Given the description of an element on the screen output the (x, y) to click on. 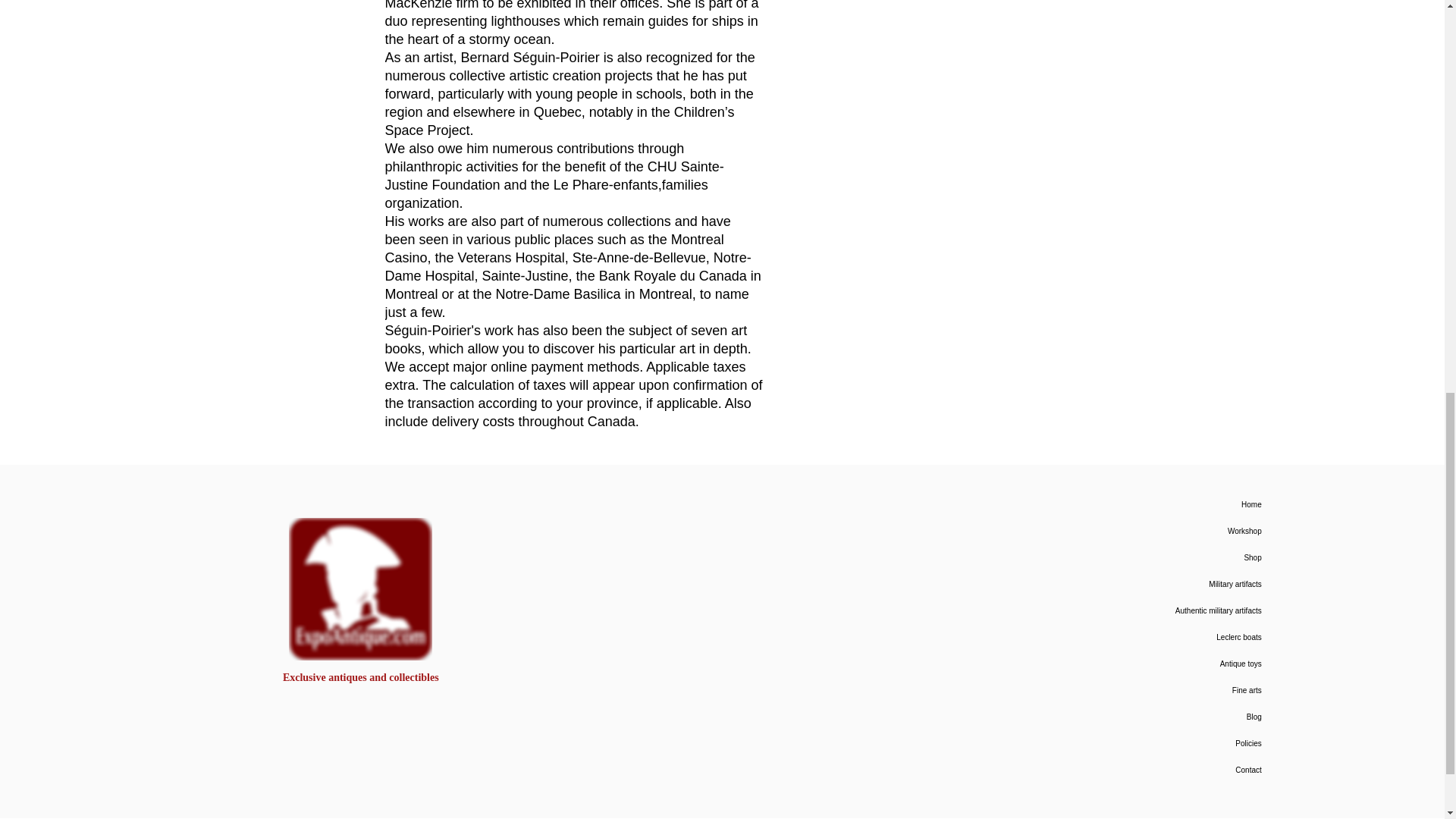
Antique toys (1145, 663)
Fine arts (1145, 690)
Leclerc boats (1145, 637)
Shop (1145, 557)
Home (1145, 504)
Military artifacts (1145, 583)
Authentic military artifacts (1145, 610)
Blog (1145, 716)
Policies (1145, 743)
Workshop (1145, 530)
Contact (1145, 769)
